Given the description of an element on the screen output the (x, y) to click on. 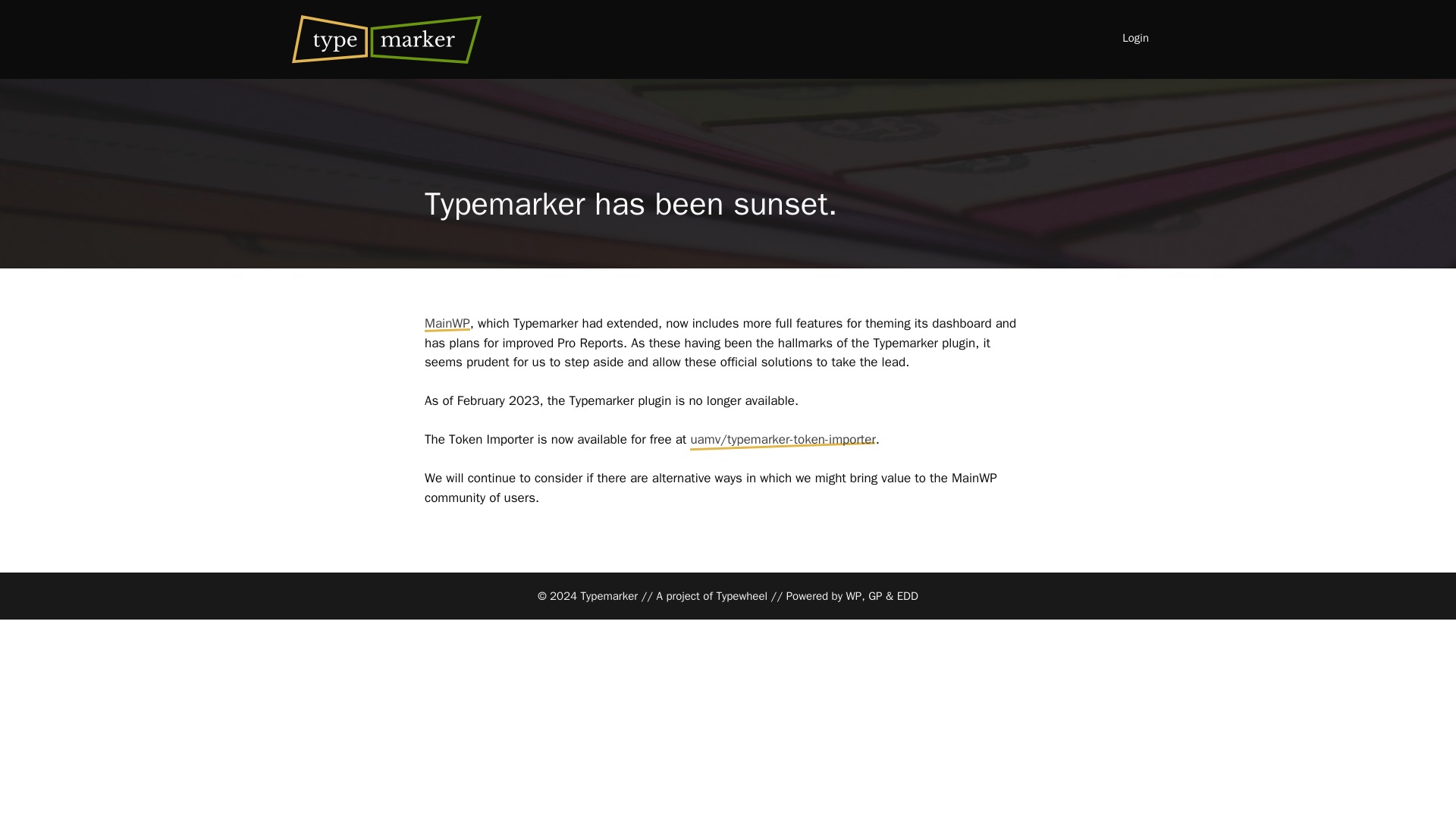
WP (853, 595)
GP (874, 595)
MainWP (447, 323)
EDD (907, 595)
Login (1134, 37)
Typewheel (741, 595)
